Given the description of an element on the screen output the (x, y) to click on. 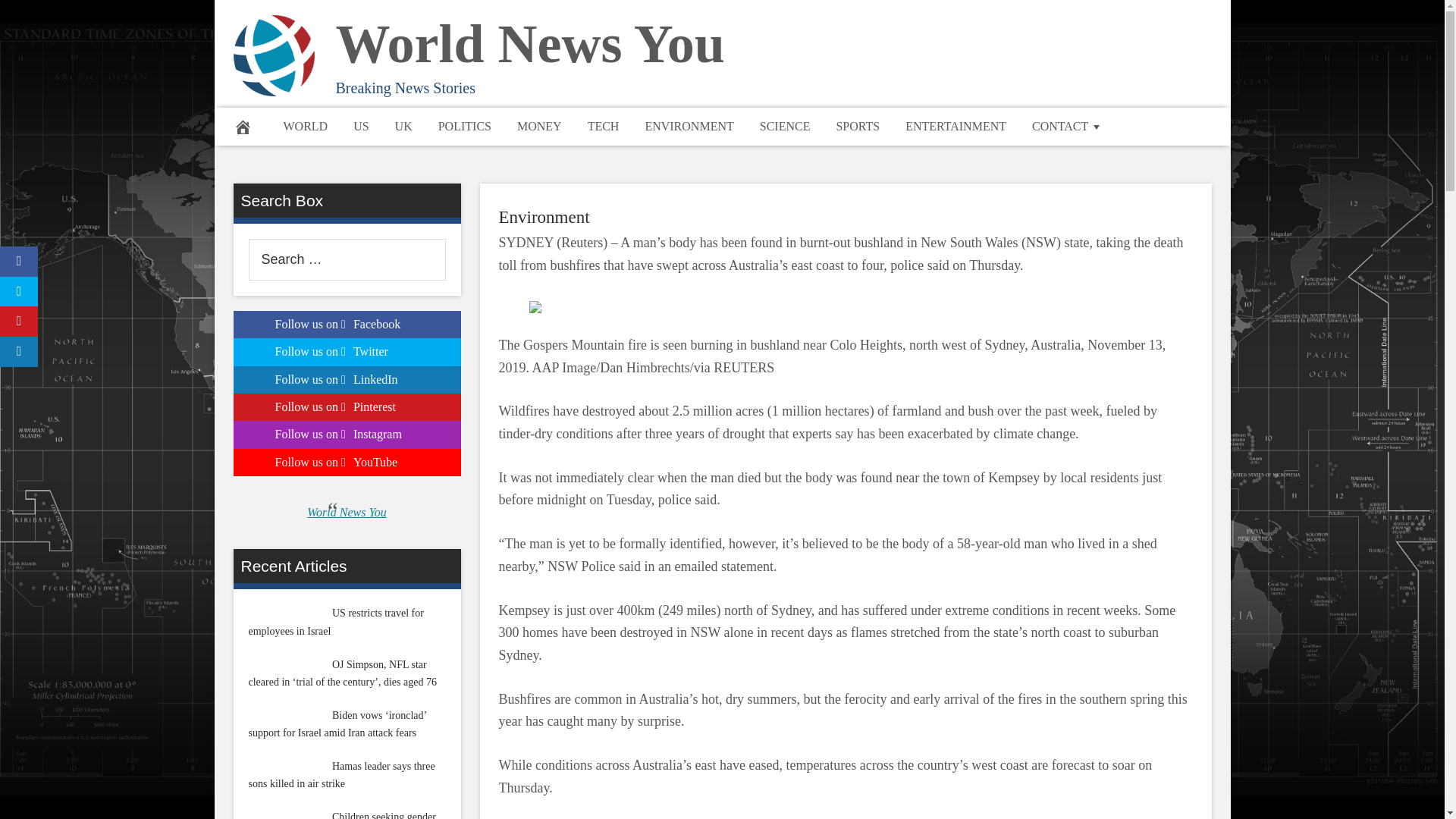
CONTACT (1067, 126)
World News You (528, 43)
ENVIRONMENT (688, 126)
SCIENCE (785, 126)
TECH (603, 126)
MONEY (539, 126)
US (360, 126)
